Given the description of an element on the screen output the (x, y) to click on. 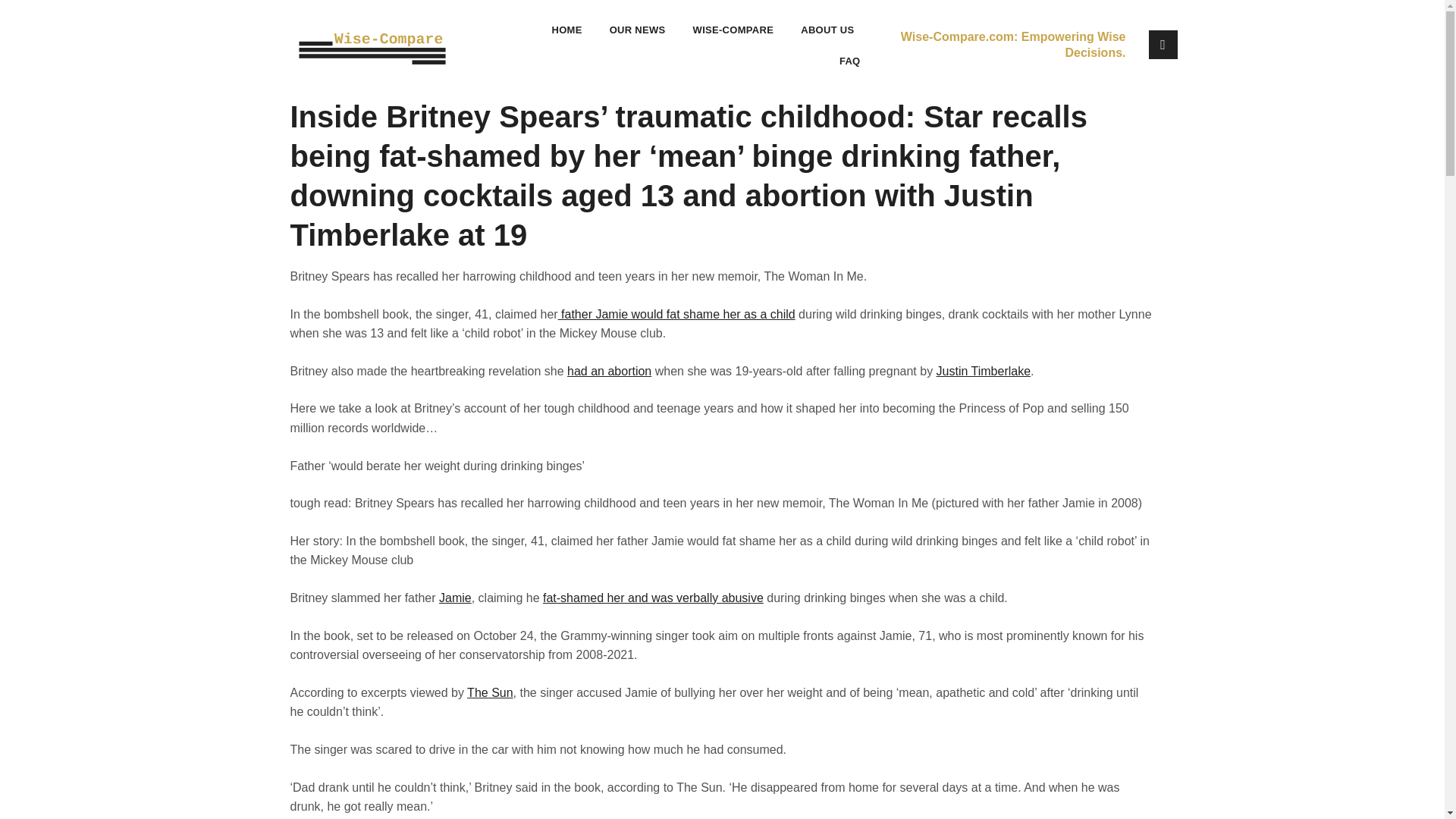
fat-shamed her and was verbally abusive (652, 597)
Jamie (455, 597)
had an abortion (608, 370)
WISE-COMPARE (733, 29)
HOME (566, 29)
Justin Timberlake (983, 370)
father Jamie would fat shame her as a child (675, 314)
ABOUT US (827, 29)
OUR NEWS (637, 29)
FAQ (849, 60)
